Given the description of an element on the screen output the (x, y) to click on. 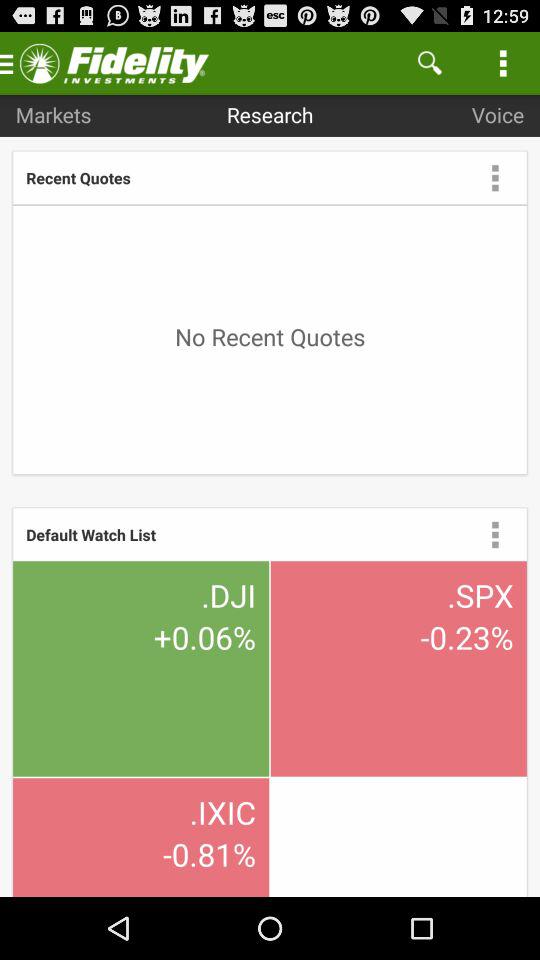
click the app next to research app (429, 62)
